Given the description of an element on the screen output the (x, y) to click on. 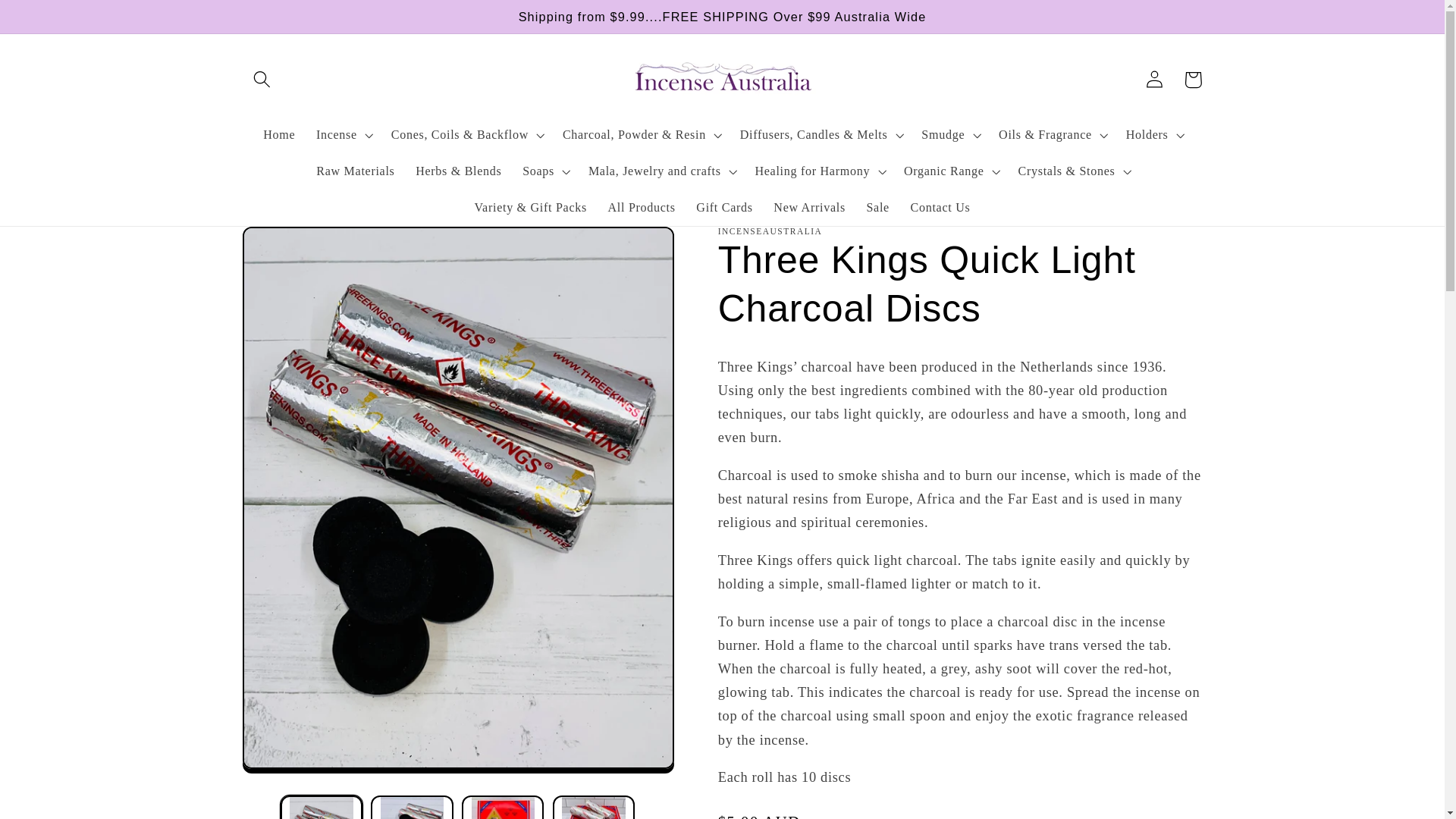
Skip to content (53, 20)
